Given the description of an element on the screen output the (x, y) to click on. 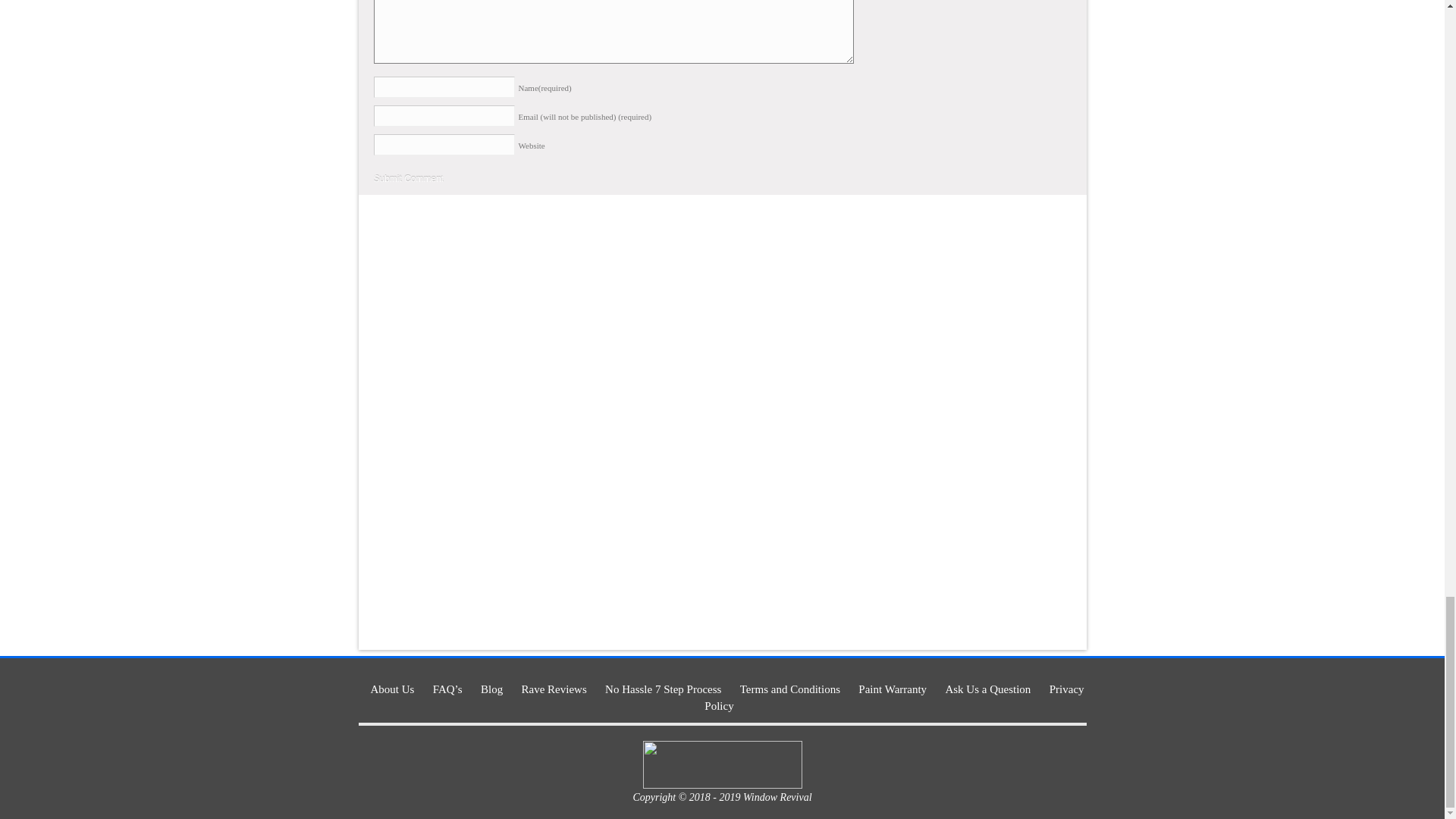
Submit Comment (408, 178)
